Given the description of an element on the screen output the (x, y) to click on. 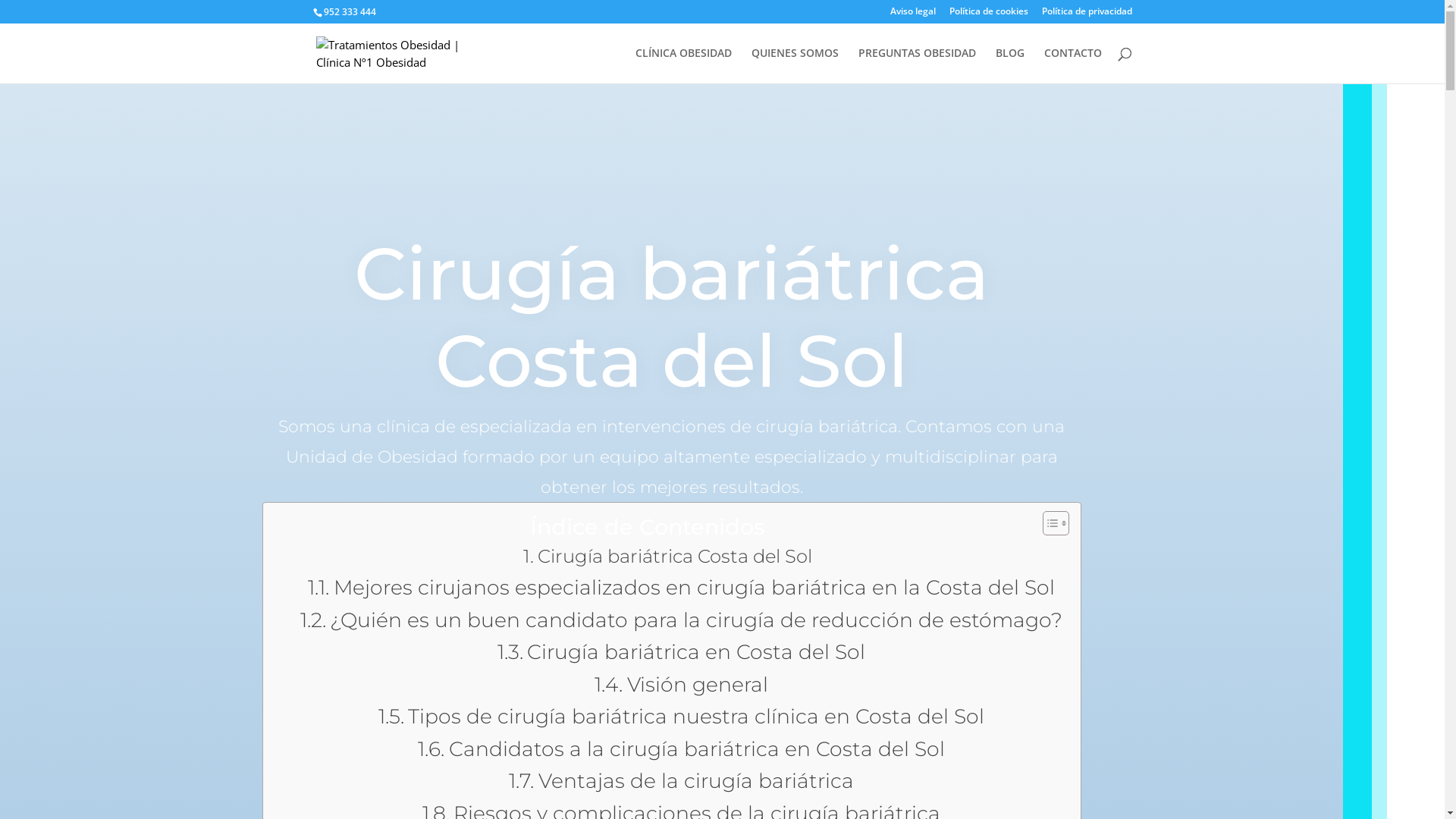
QUIENES SOMOS Element type: text (793, 65)
BLOG Element type: text (1008, 65)
PREGUNTAS OBESIDAD Element type: text (916, 65)
Aviso legal Element type: text (912, 14)
CONTACTO Element type: text (1072, 65)
